Given the description of an element on the screen output the (x, y) to click on. 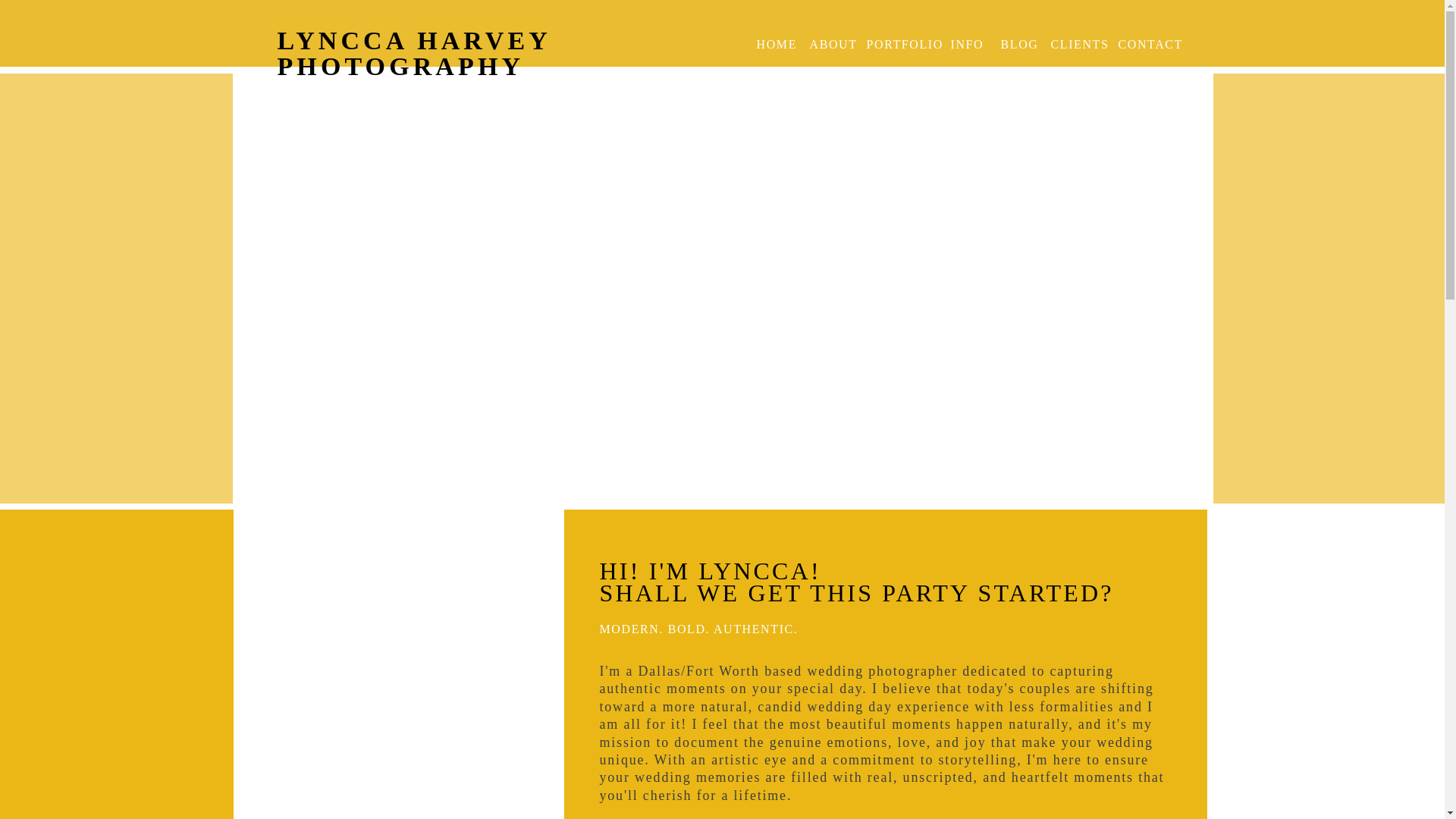
CLIENTS (1075, 43)
BLOG (1016, 43)
ABOUT (828, 43)
INFO (967, 43)
HOME (773, 43)
PORTFOLIO (901, 43)
CONTACT (1142, 43)
